Given the description of an element on the screen output the (x, y) to click on. 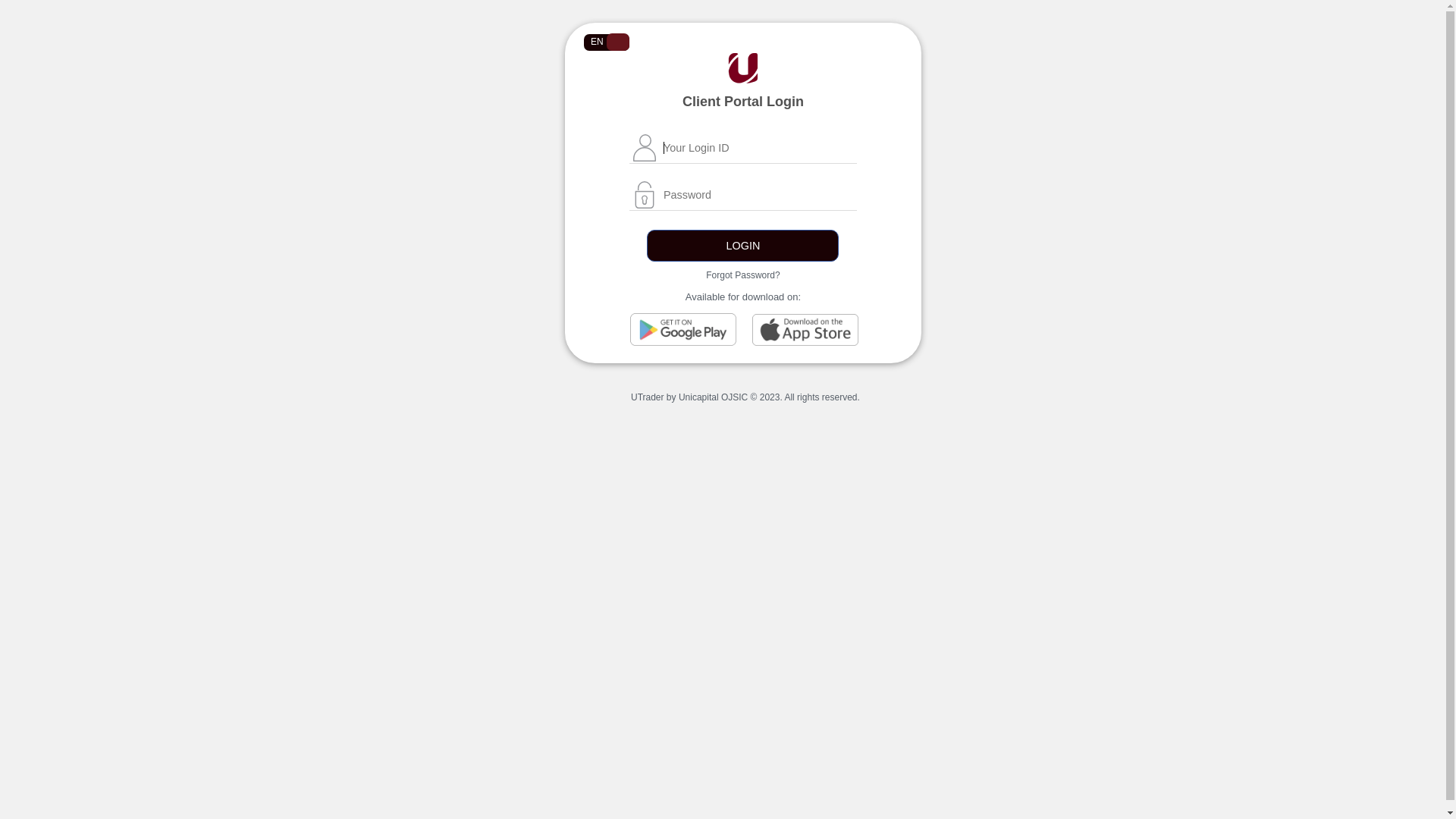
Login Element type: text (742, 245)
Forgot Password? Element type: text (742, 274)
EN Element type: text (606, 42)
